Given the description of an element on the screen output the (x, y) to click on. 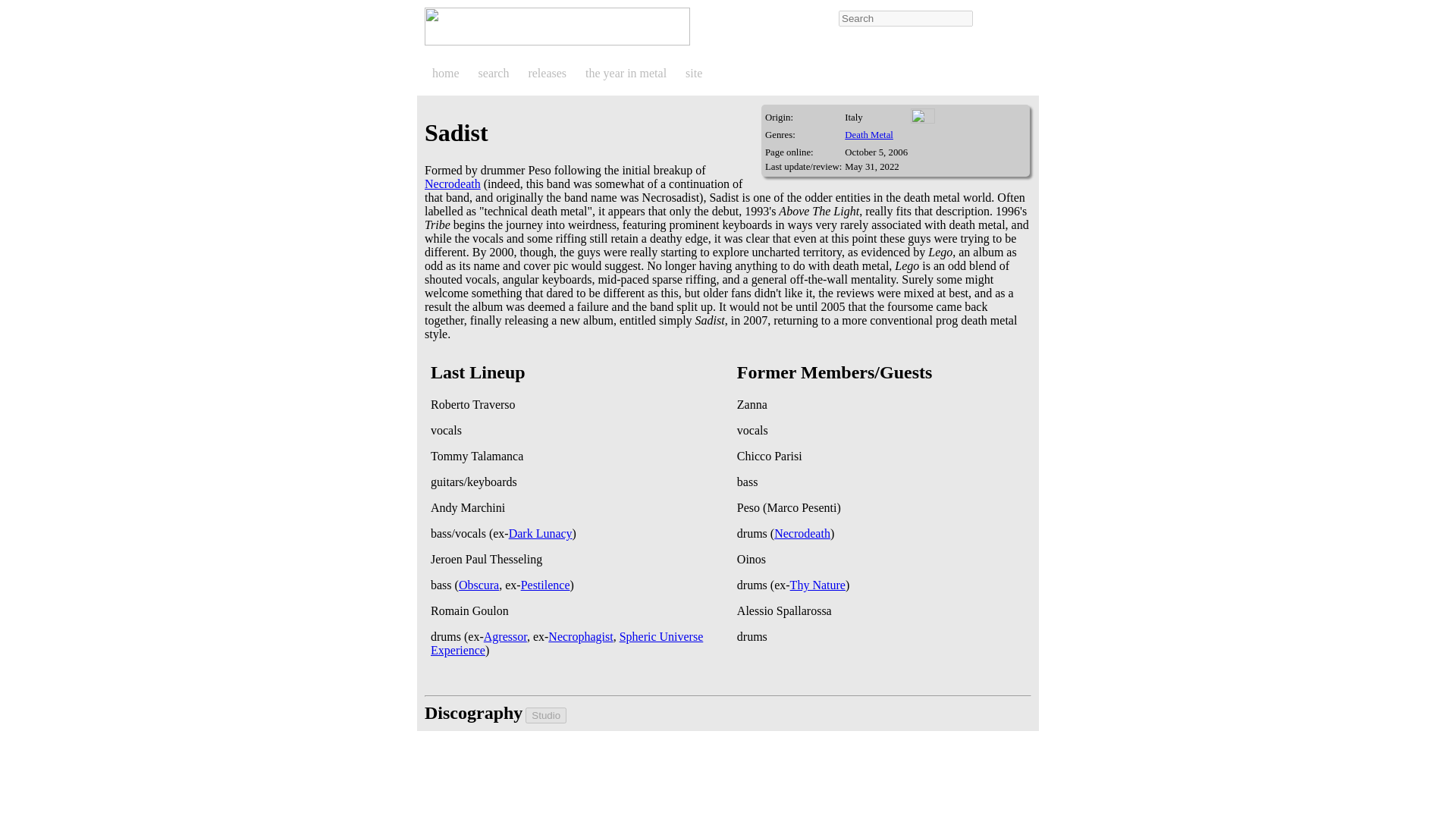
Necrodeath (801, 533)
the year in metal (630, 72)
Spheric Universe Experience (566, 642)
Dark Lunacy (540, 533)
Necrodeath (452, 183)
home (451, 72)
Thy Nature (817, 584)
Death Metal (868, 134)
Necrophagist (580, 635)
Agressor (505, 635)
site (699, 72)
search (499, 72)
releases (552, 72)
Obscura (478, 584)
Pestilence (545, 584)
